Given the description of an element on the screen output the (x, y) to click on. 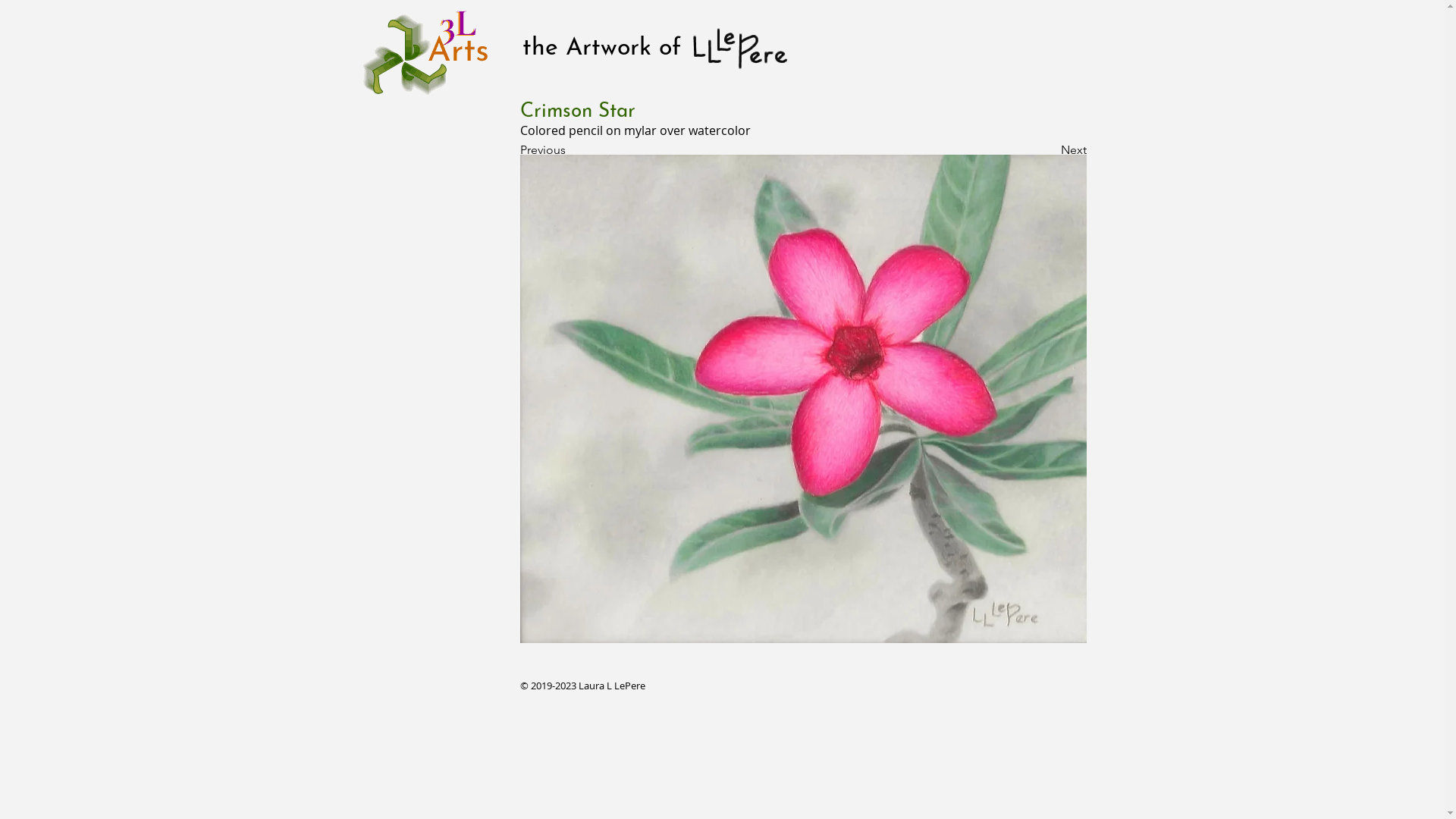
Next Element type: text (1047, 149)
Crimson Star Element type: hover (803, 398)
Previous Element type: text (570, 149)
